Given the description of an element on the screen output the (x, y) to click on. 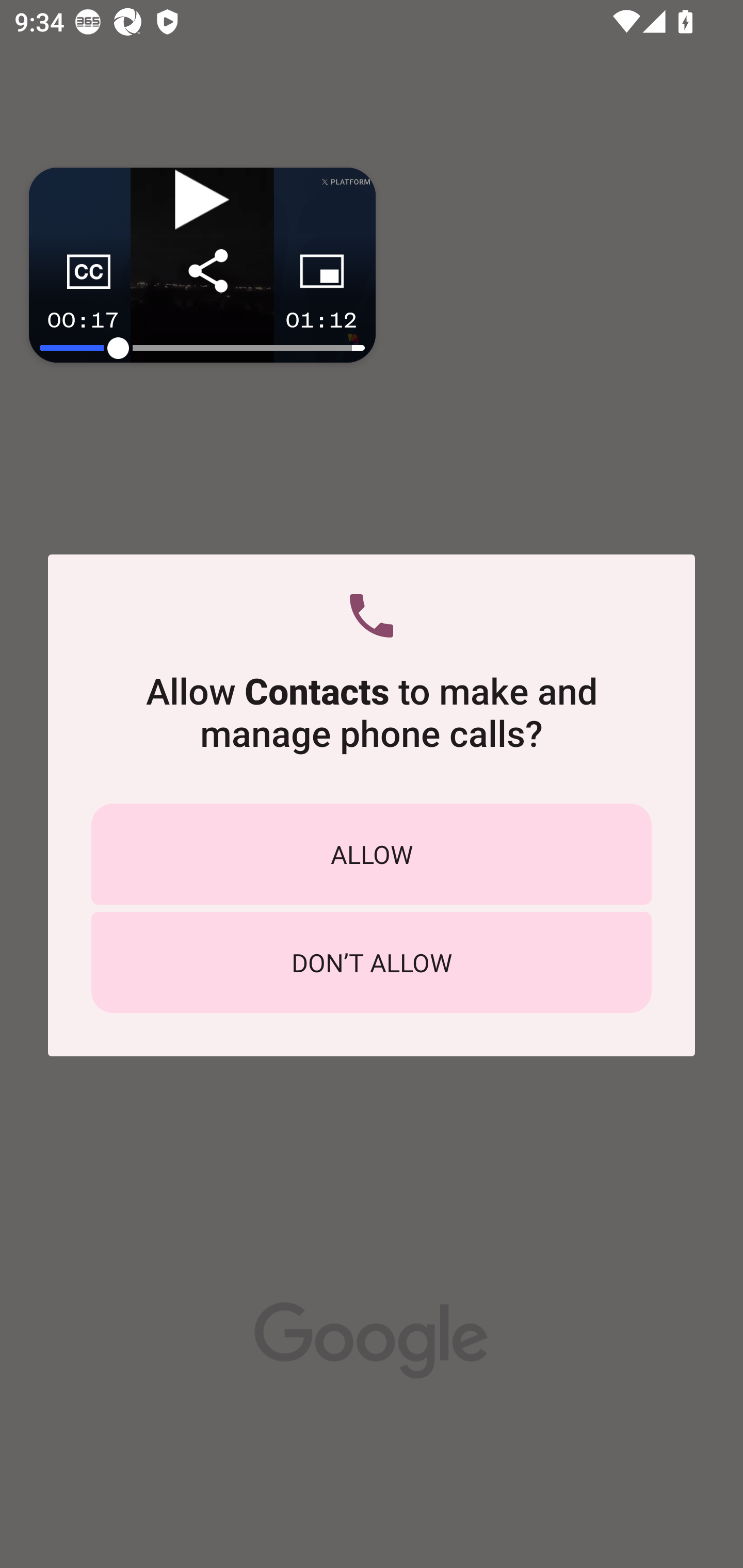
ALLOW (371, 853)
DON’T ALLOW (371, 962)
